Given the description of an element on the screen output the (x, y) to click on. 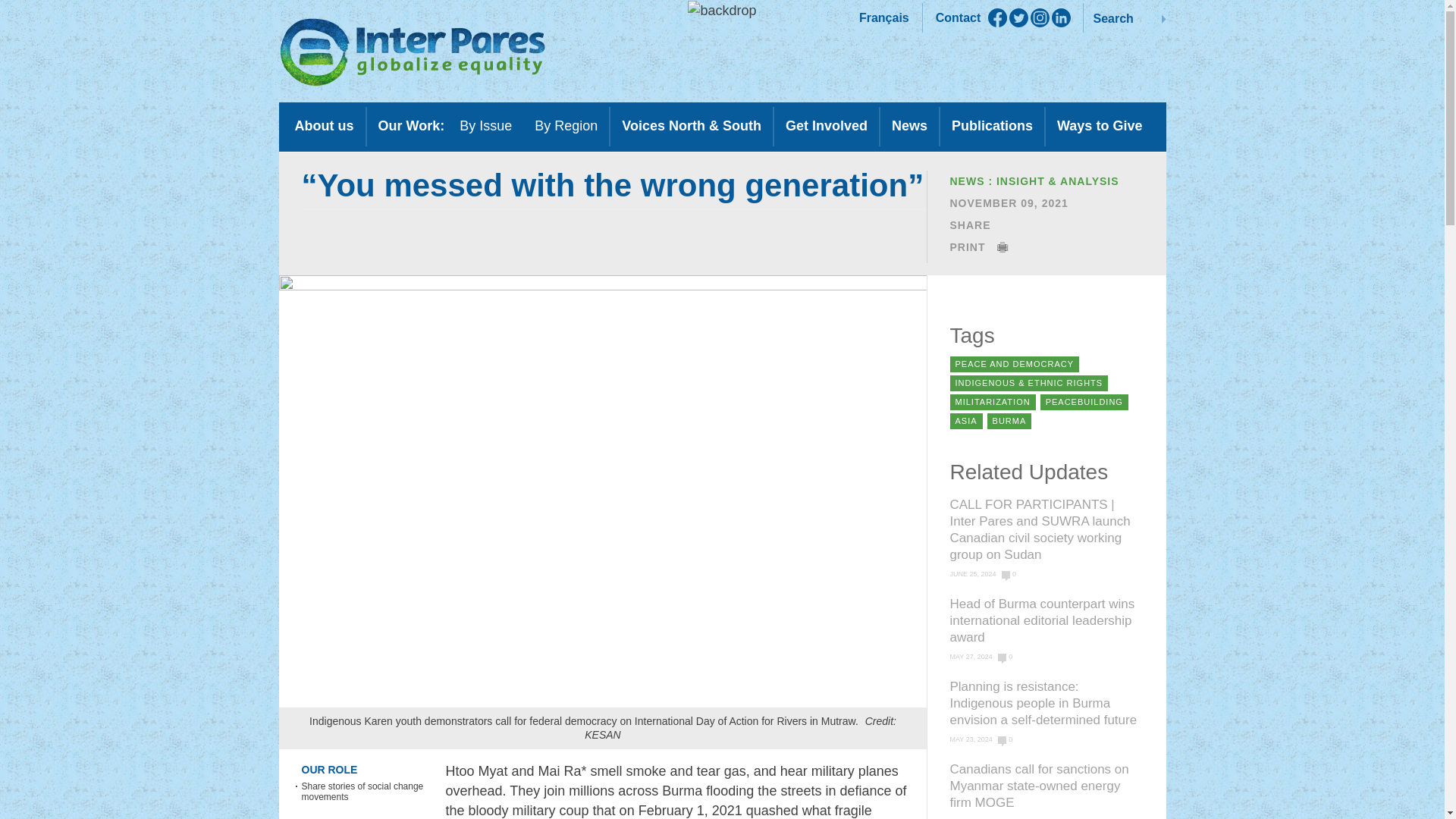
Search (1124, 17)
By Issue (485, 129)
Our Work: (411, 129)
Facebook (997, 17)
LinkedIn (1060, 17)
Contact (958, 17)
Twitter (1018, 17)
Instagram (1039, 17)
About us (324, 129)
Printer friendly version (978, 246)
search (1162, 17)
Inter Pares globalize equality (412, 52)
